Given the description of an element on the screen output the (x, y) to click on. 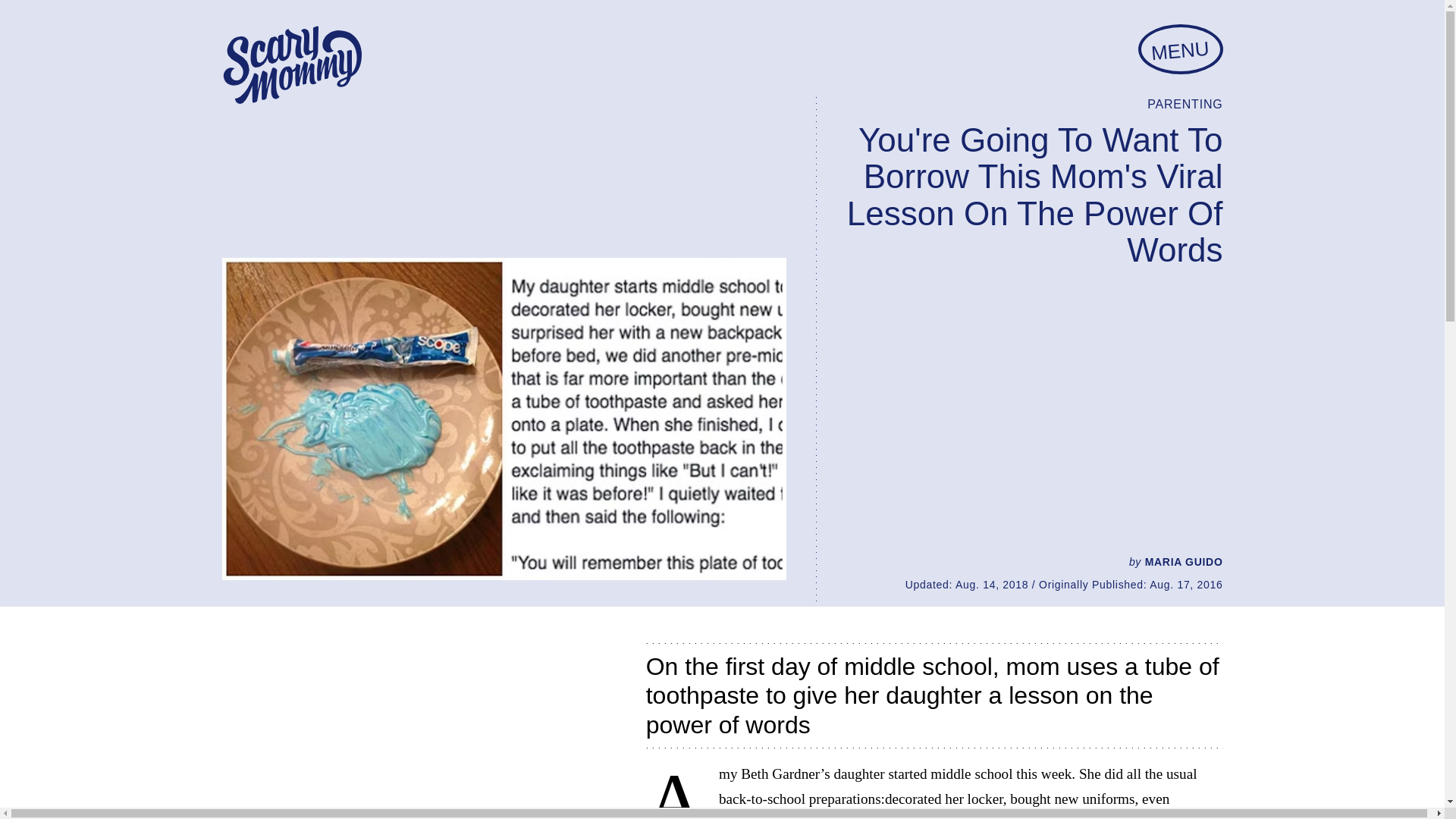
Scary Mommy (291, 64)
